Given the description of an element on the screen output the (x, y) to click on. 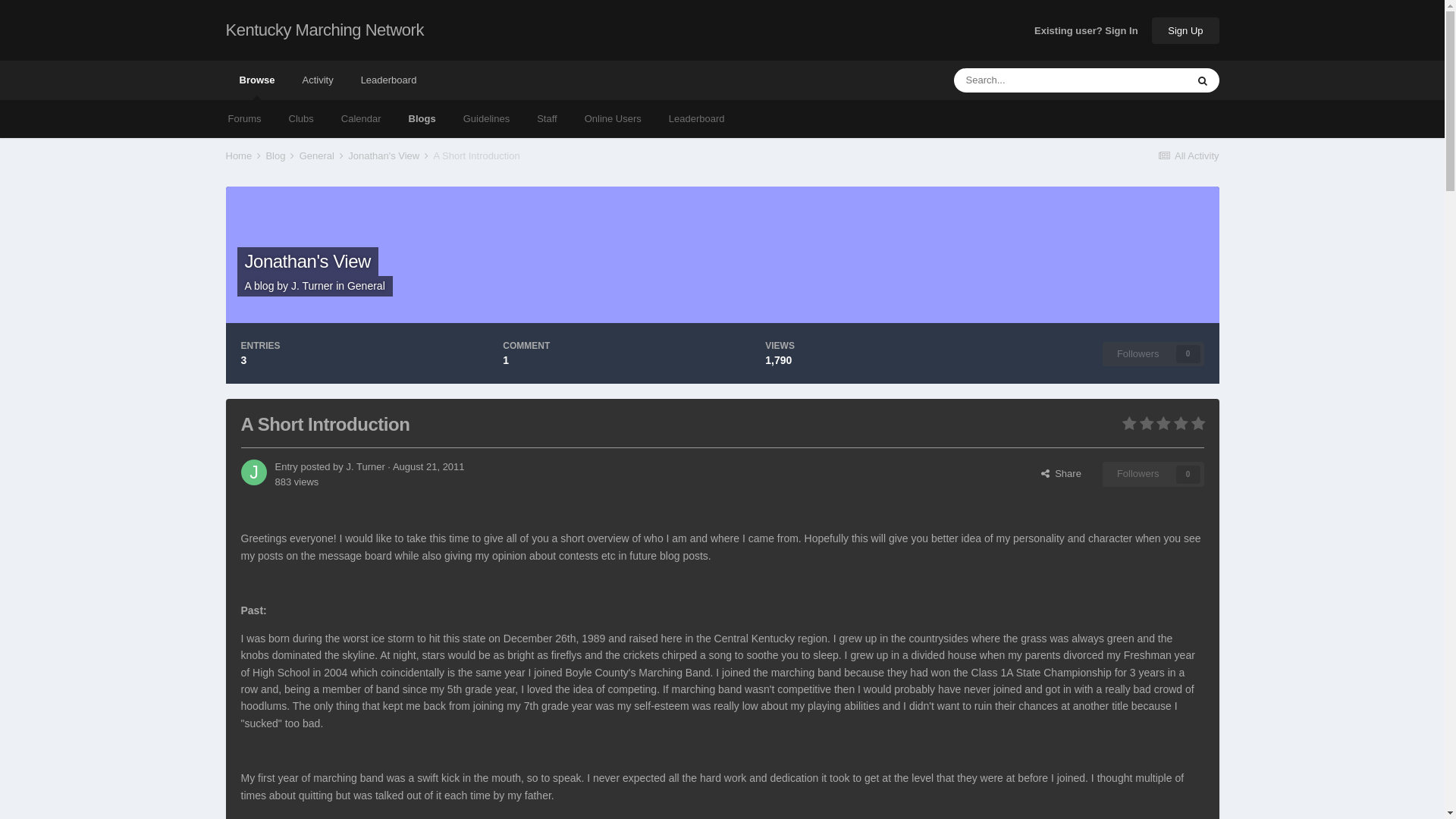
Activity (317, 79)
Blog (280, 155)
General (366, 285)
Leaderboard (696, 118)
Sign in to follow this (1153, 353)
Browse (256, 79)
 Share (1061, 473)
Kentucky Marching Network (324, 30)
J. Turner (365, 466)
Go to the blog Jonathan's View (306, 260)
